Given the description of an element on the screen output the (x, y) to click on. 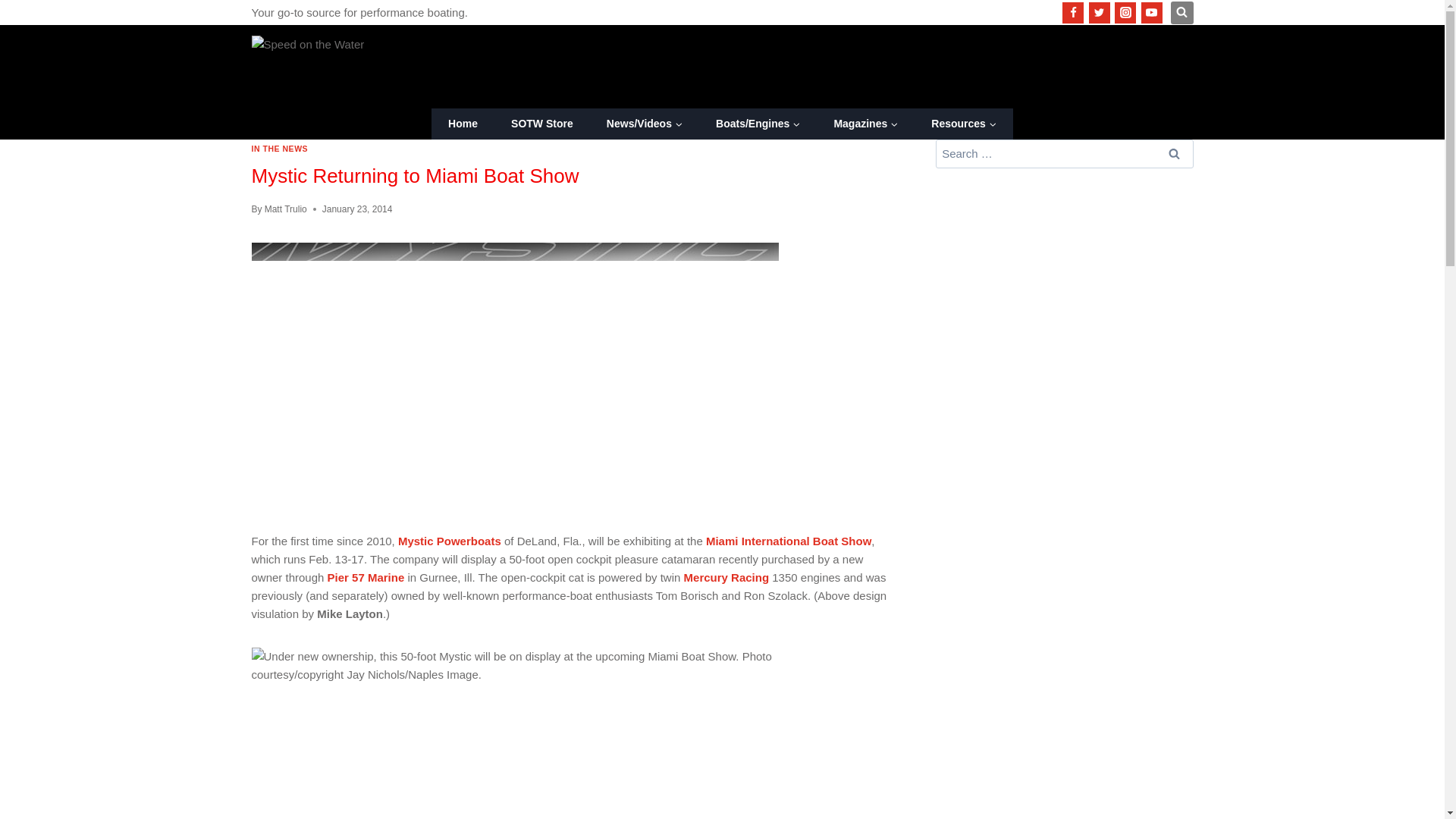
Home (462, 123)
Resources (963, 123)
Search (1174, 153)
Magazines (865, 123)
Search (1174, 153)
SOTW Store (542, 123)
